Given the description of an element on the screen output the (x, y) to click on. 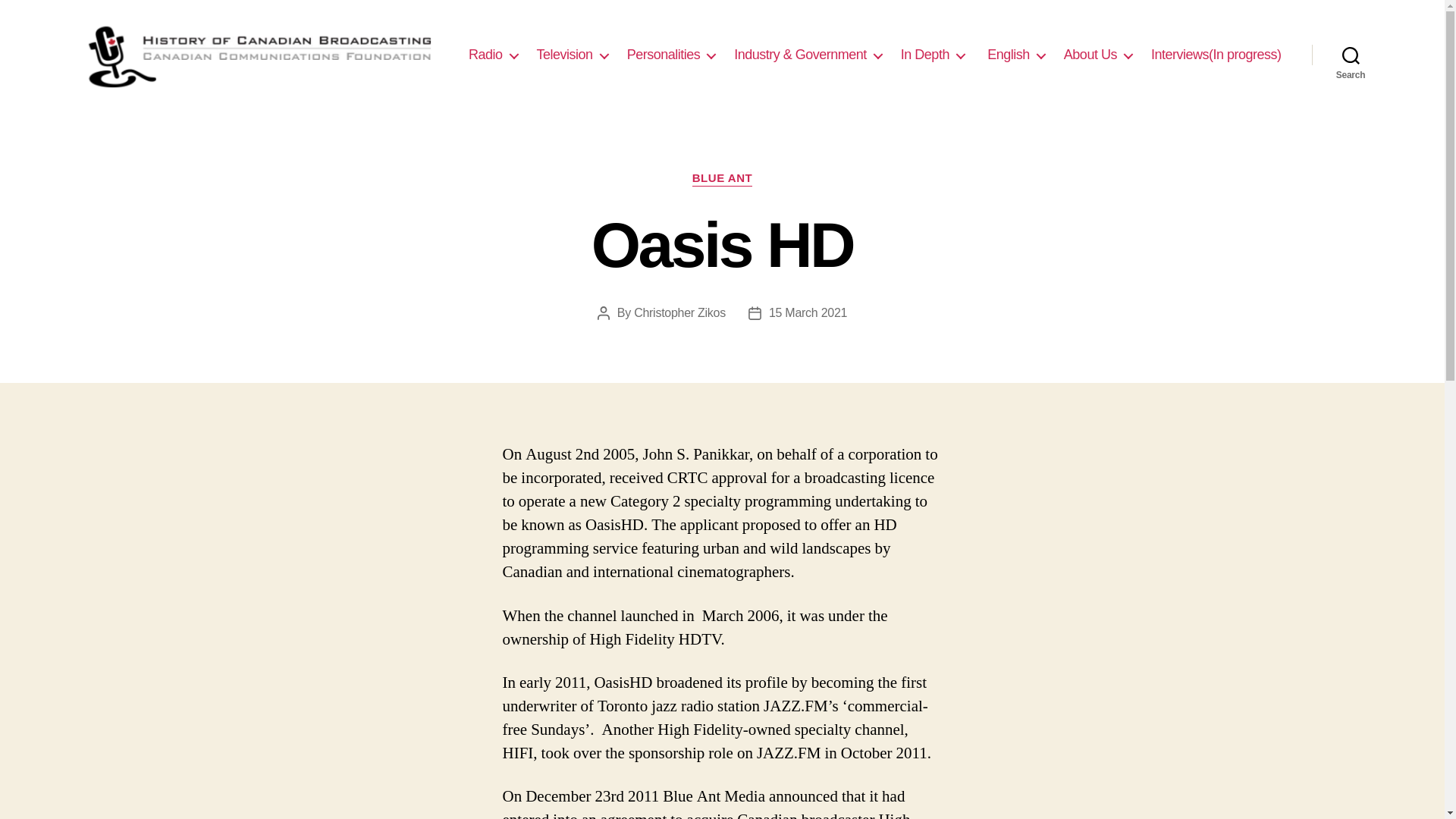
Television (572, 54)
In Depth (932, 54)
Search (1350, 55)
English (1014, 54)
Personalities (671, 54)
About Us (1098, 54)
Radio (493, 54)
